Given the description of an element on the screen output the (x, y) to click on. 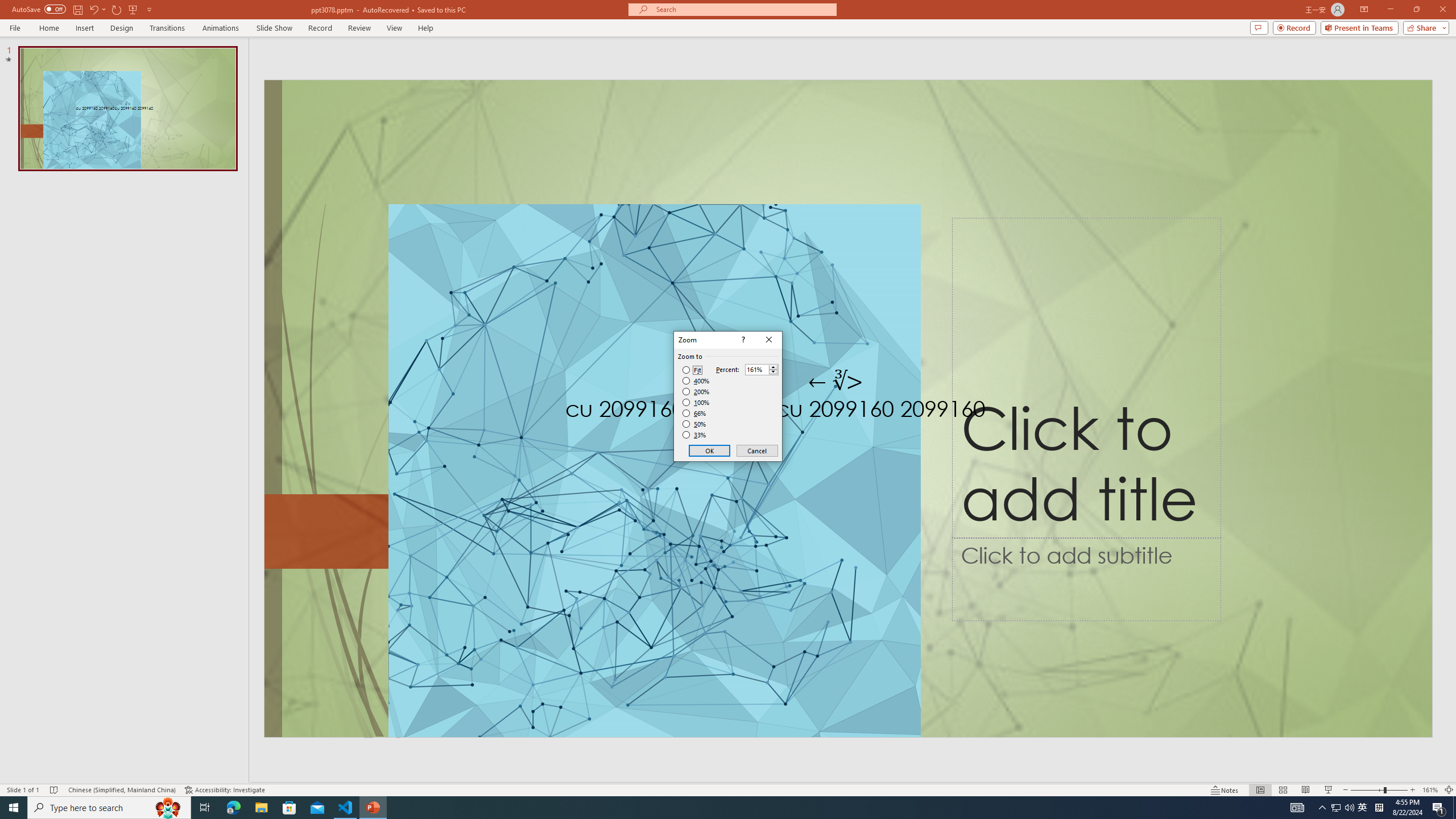
Cancel (756, 450)
